Given the description of an element on the screen output the (x, y) to click on. 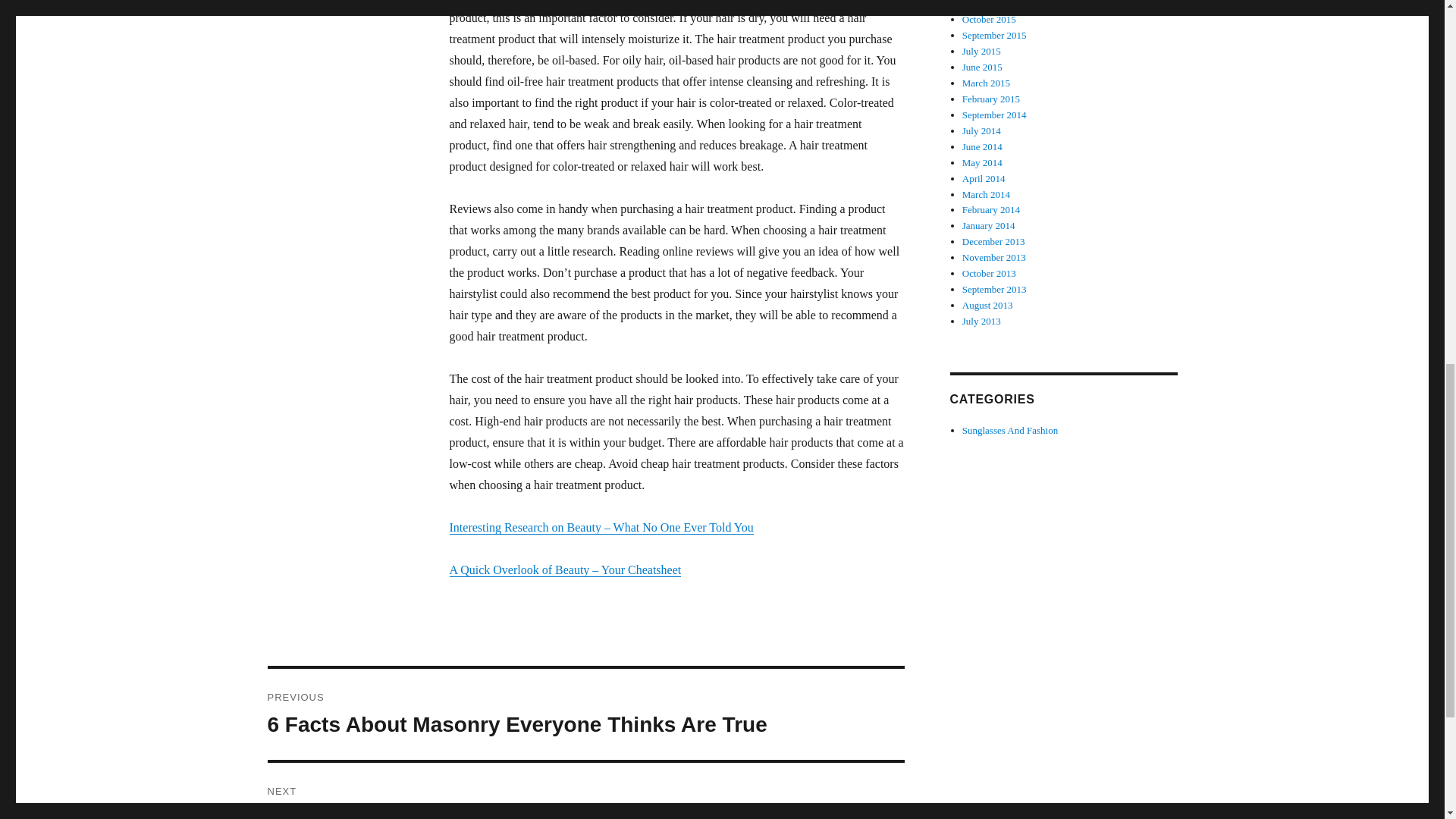
June 2015 (982, 66)
Sunglasses And Fashion (1010, 430)
March 2014 (986, 193)
November 2013 (994, 256)
September 2015 (994, 34)
September 2014 (585, 790)
September 2013 (994, 114)
December 2013 (994, 288)
February 2015 (993, 241)
April 2014 (991, 98)
December 2015 (984, 178)
February 2014 (993, 4)
October 2013 (991, 209)
